Given the description of an element on the screen output the (x, y) to click on. 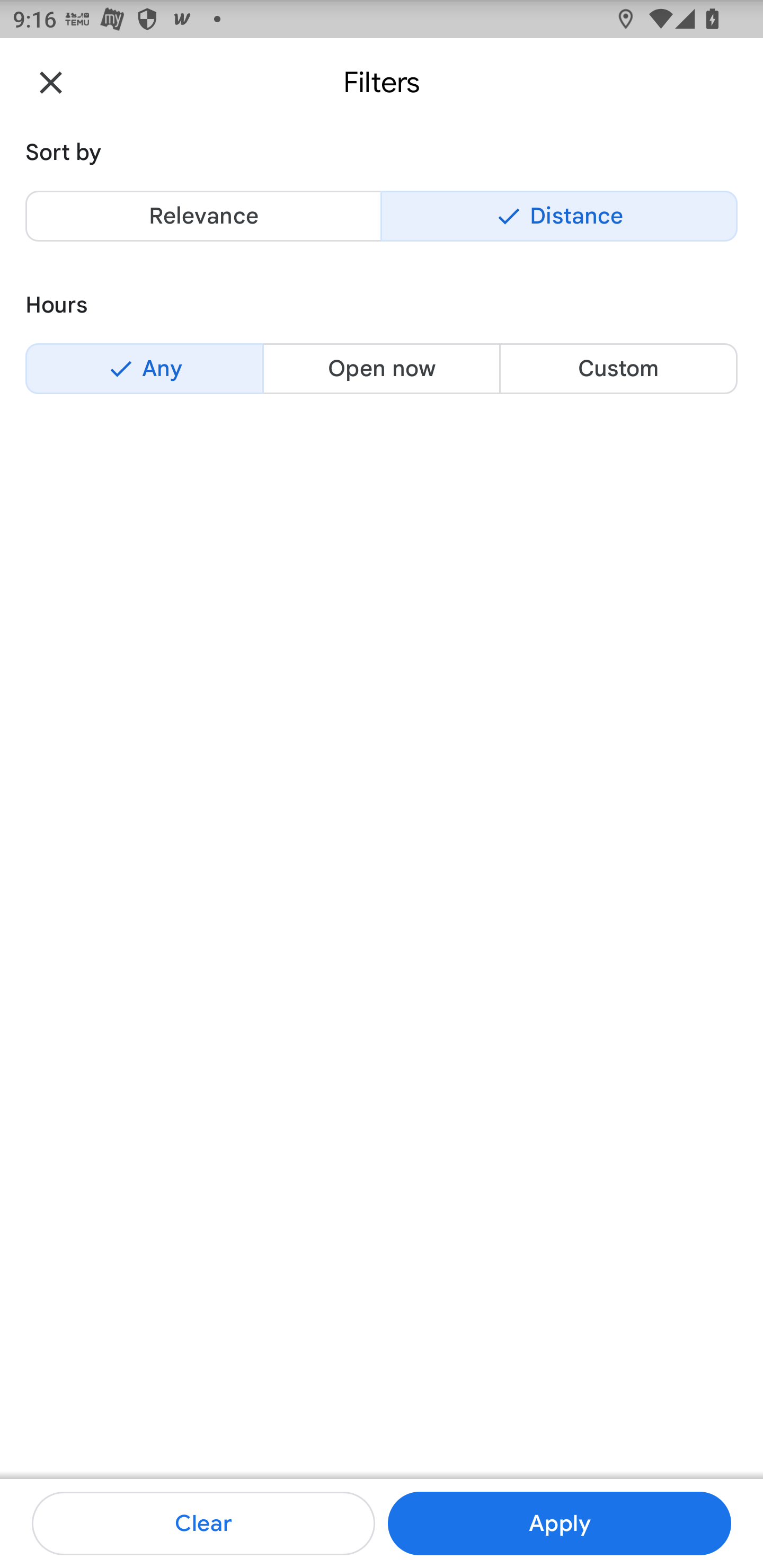
Close menu (50, 81)
Relevance (203, 216)
Distance (558, 216)
Any (144, 368)
Open now (381, 368)
Custom (618, 368)
Clear Clear Clear (203, 1522)
Apply Apply Apply (558, 1522)
